Given the description of an element on the screen output the (x, y) to click on. 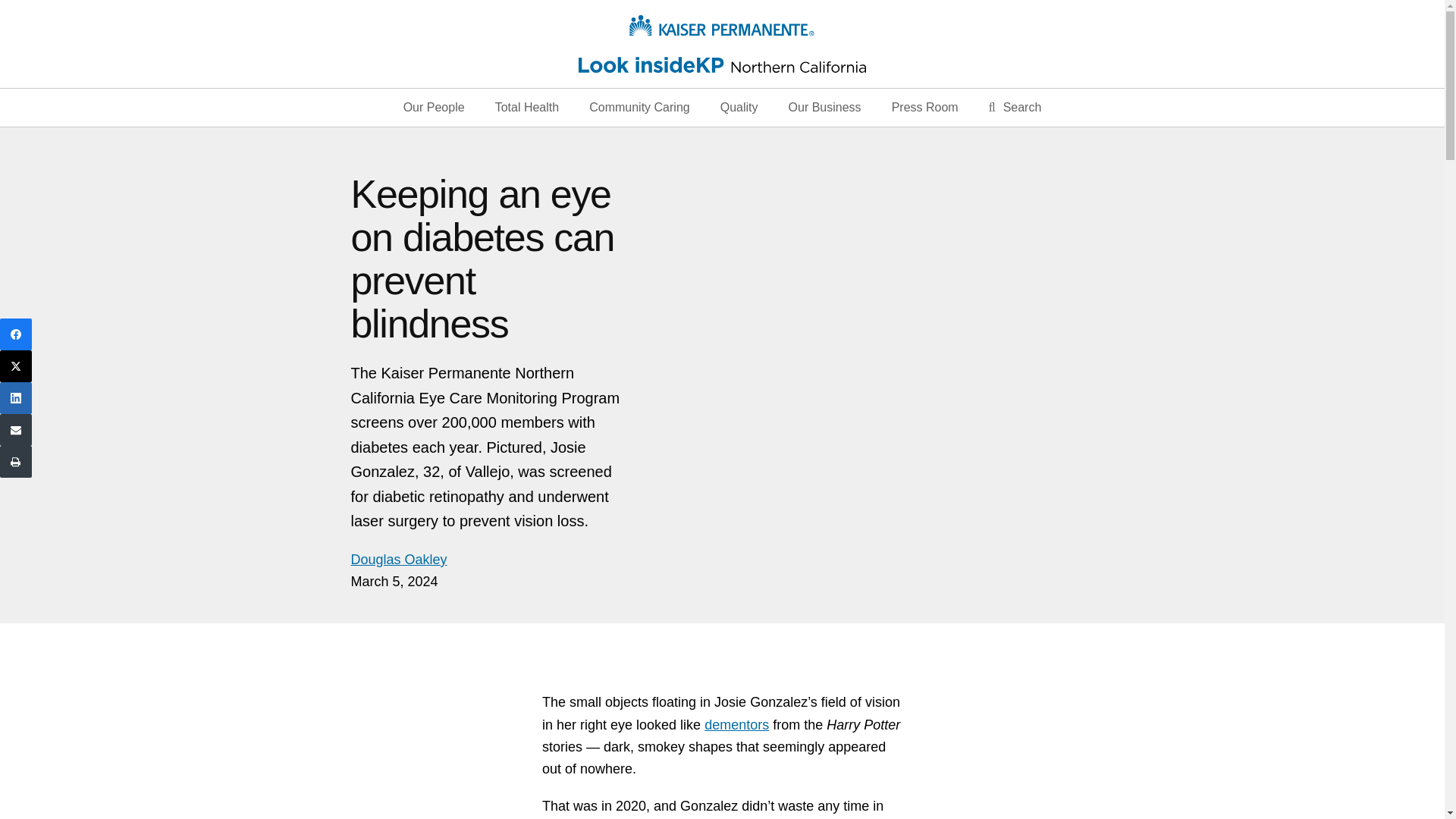
Community Caring (639, 107)
Press Room (924, 107)
Quality (738, 107)
Our People (434, 107)
Total Health (526, 107)
Search (1014, 107)
Douglas Oakley (398, 559)
Posts by Douglas Oakley (398, 559)
dementors (736, 724)
Our Business (824, 107)
